Given the description of an element on the screen output the (x, y) to click on. 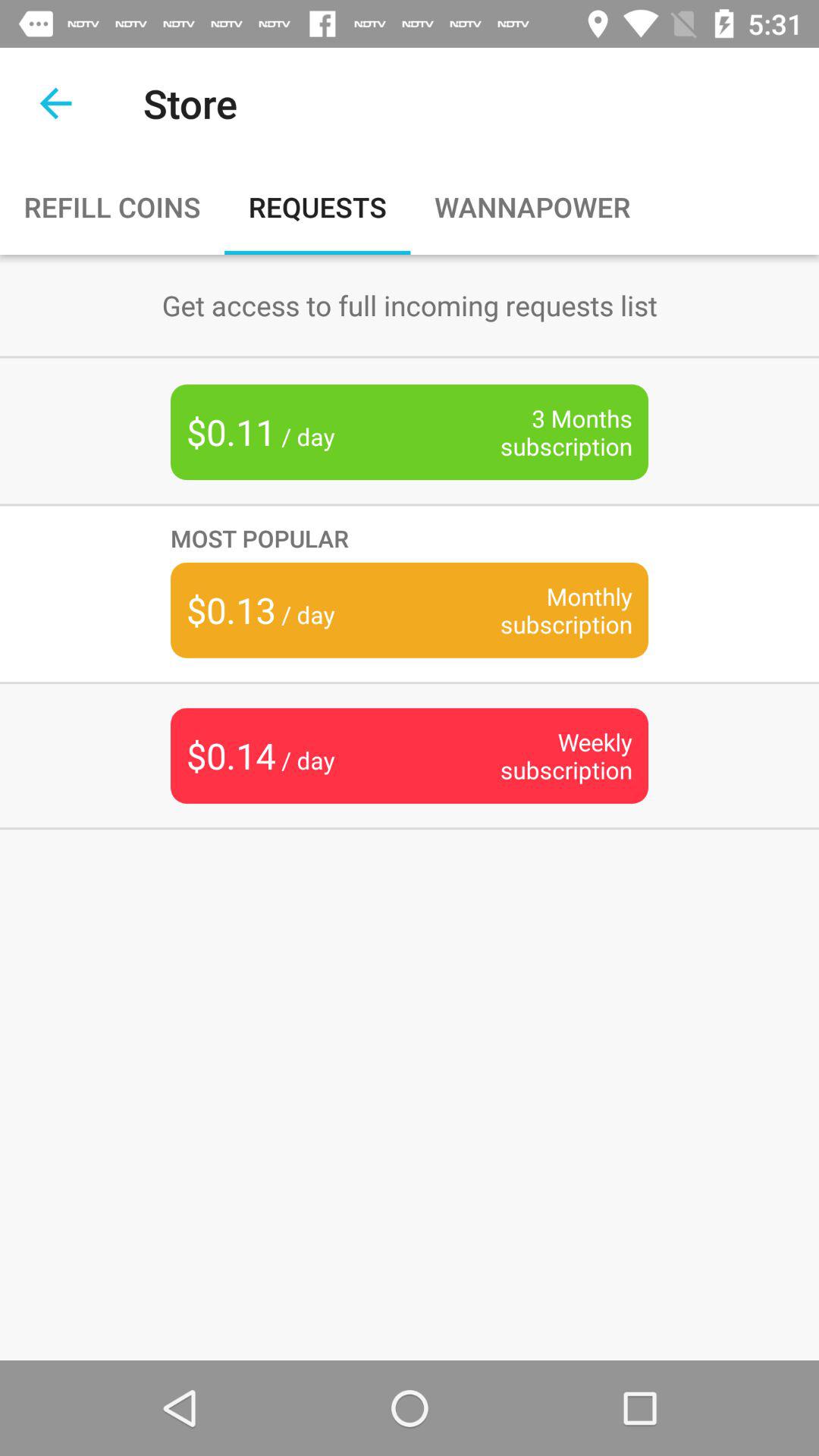
tap item next to $0.11 / day item (543, 432)
